Given the description of an element on the screen output the (x, y) to click on. 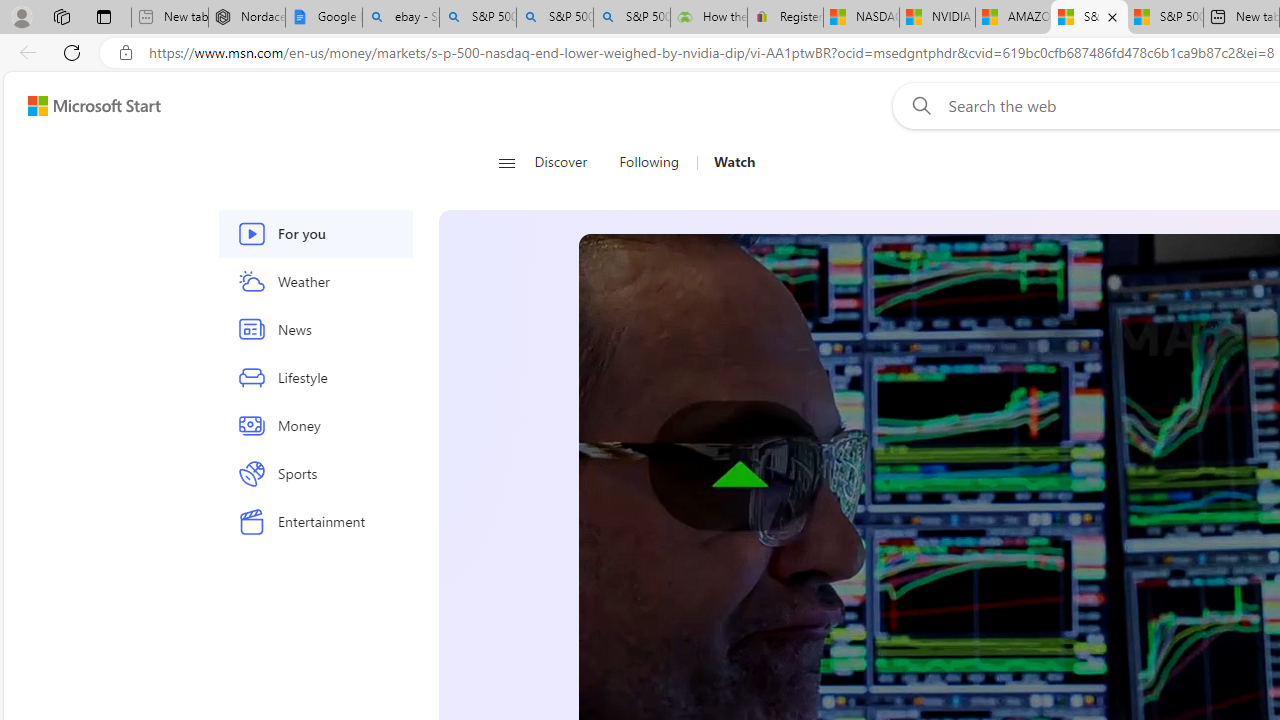
Web search (917, 105)
Discover (568, 162)
Close tab (1112, 16)
Personal Profile (21, 16)
Watch (726, 162)
Tab actions menu (104, 16)
Watch (734, 162)
Class: button-glyph (505, 162)
New tab - Sleeping (169, 17)
Following (648, 162)
Workspaces (61, 16)
Following (649, 162)
Refresh (72, 52)
How the S&P 500 Performed During Major Market Crashes (708, 17)
S&P 500, Nasdaq end lower, weighed by Nvidia dip | Watch (1165, 17)
